Given the description of an element on the screen output the (x, y) to click on. 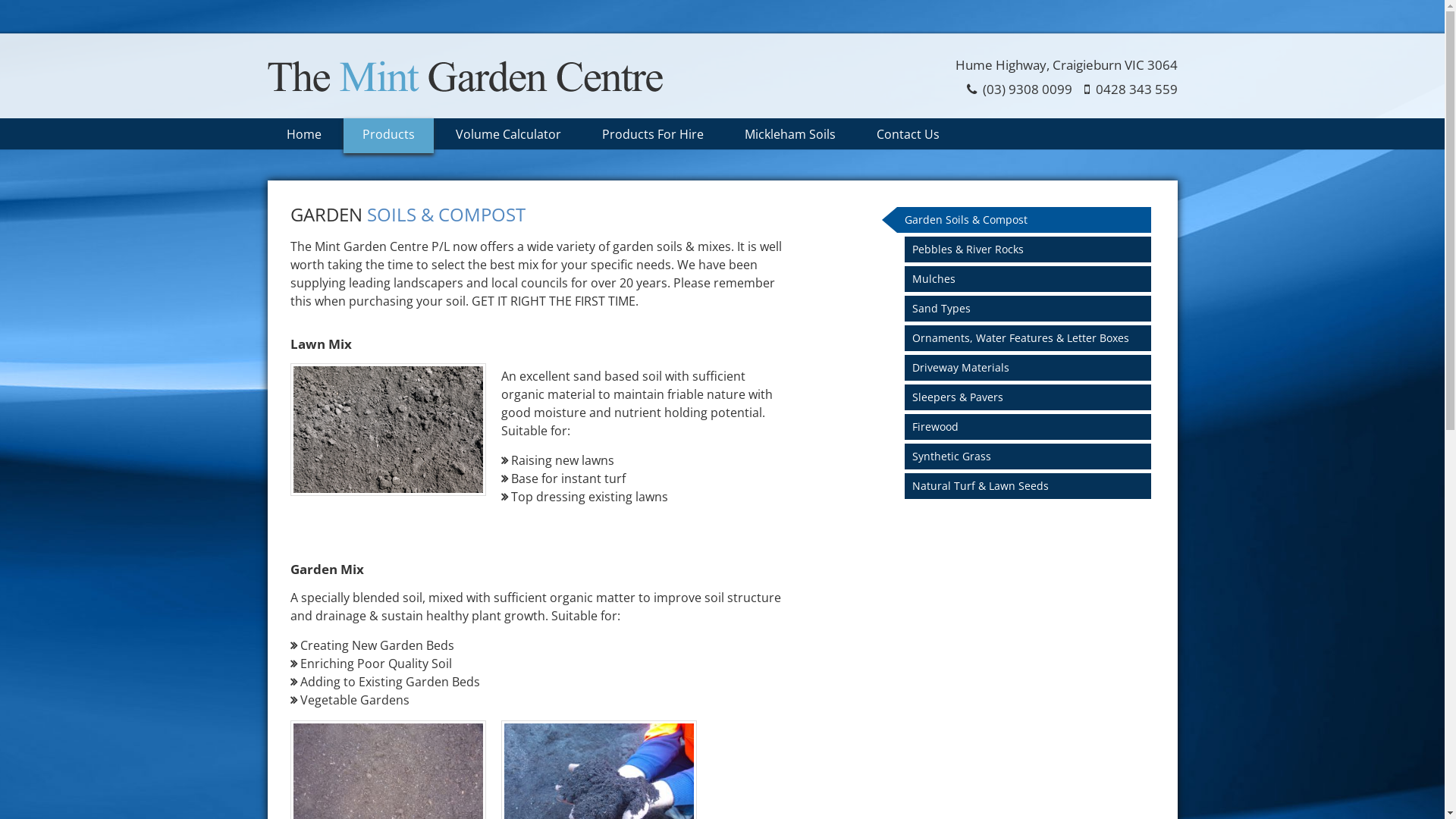
Ornaments, Water Features & Letter Boxes Element type: text (1034, 338)
Mickleham Soils Element type: text (788, 135)
Contact Us Element type: text (906, 135)
Driveway Materials Element type: text (1034, 367)
Garden Soils & Compost Element type: text (1023, 219)
Products For Hire Element type: text (651, 135)
Volume Calculator Element type: text (508, 135)
Mulches Element type: text (1034, 278)
Sand Types Element type: text (1034, 308)
Products Element type: text (387, 135)
Firewood Element type: text (1034, 426)
Home Element type: text (302, 135)
Sleepers & Pavers Element type: text (1034, 397)
Pebbles & River Rocks Element type: text (1034, 249)
Natural Turf & Lawn Seeds Element type: text (1034, 485)
Synthetic Grass Element type: text (1034, 456)
